Given the description of an element on the screen output the (x, y) to click on. 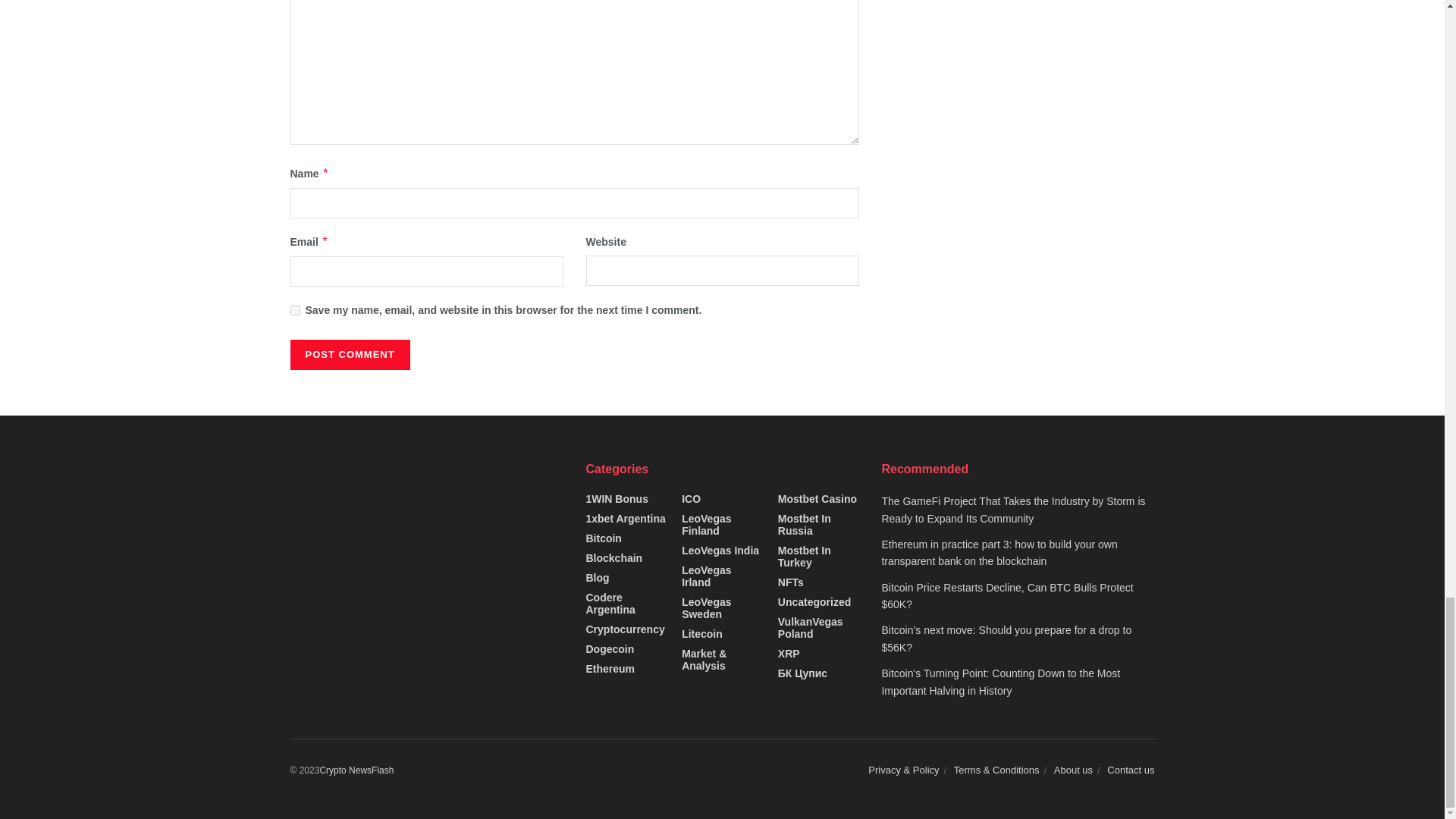
Premium news  (355, 769)
yes (294, 310)
Post Comment (349, 354)
